Given the description of an element on the screen output the (x, y) to click on. 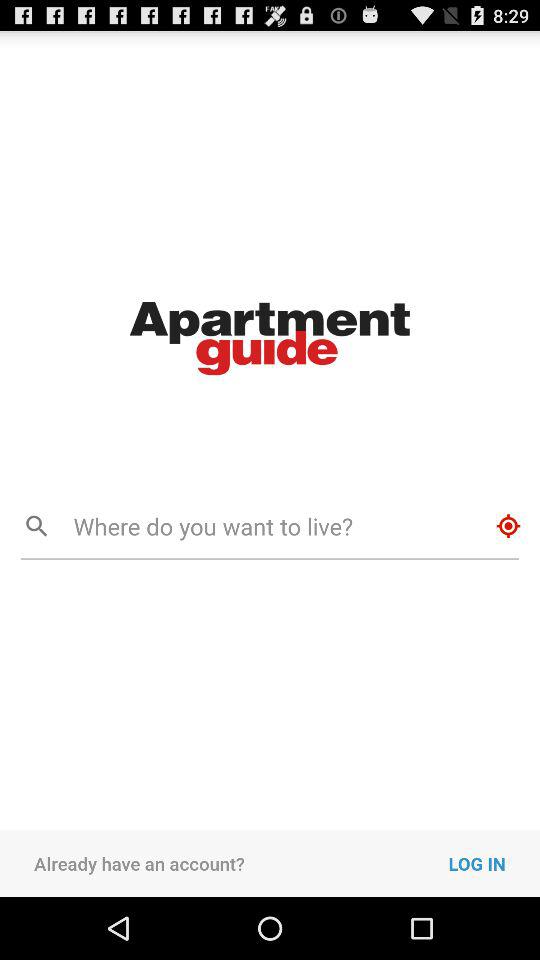
swipe until log in item (494, 863)
